Given the description of an element on the screen output the (x, y) to click on. 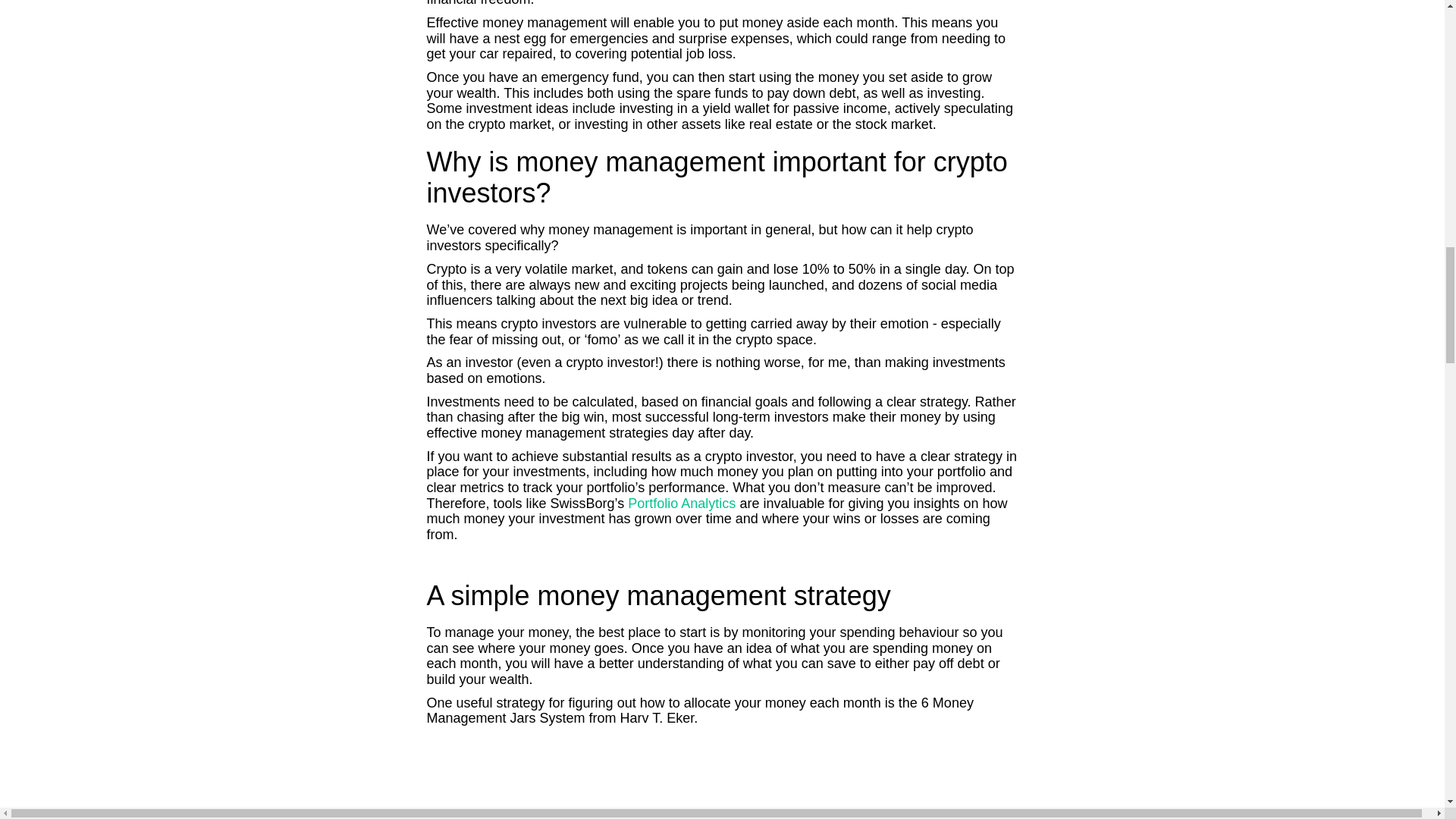
Portfolio Analytics (683, 503)
